Given the description of an element on the screen output the (x, y) to click on. 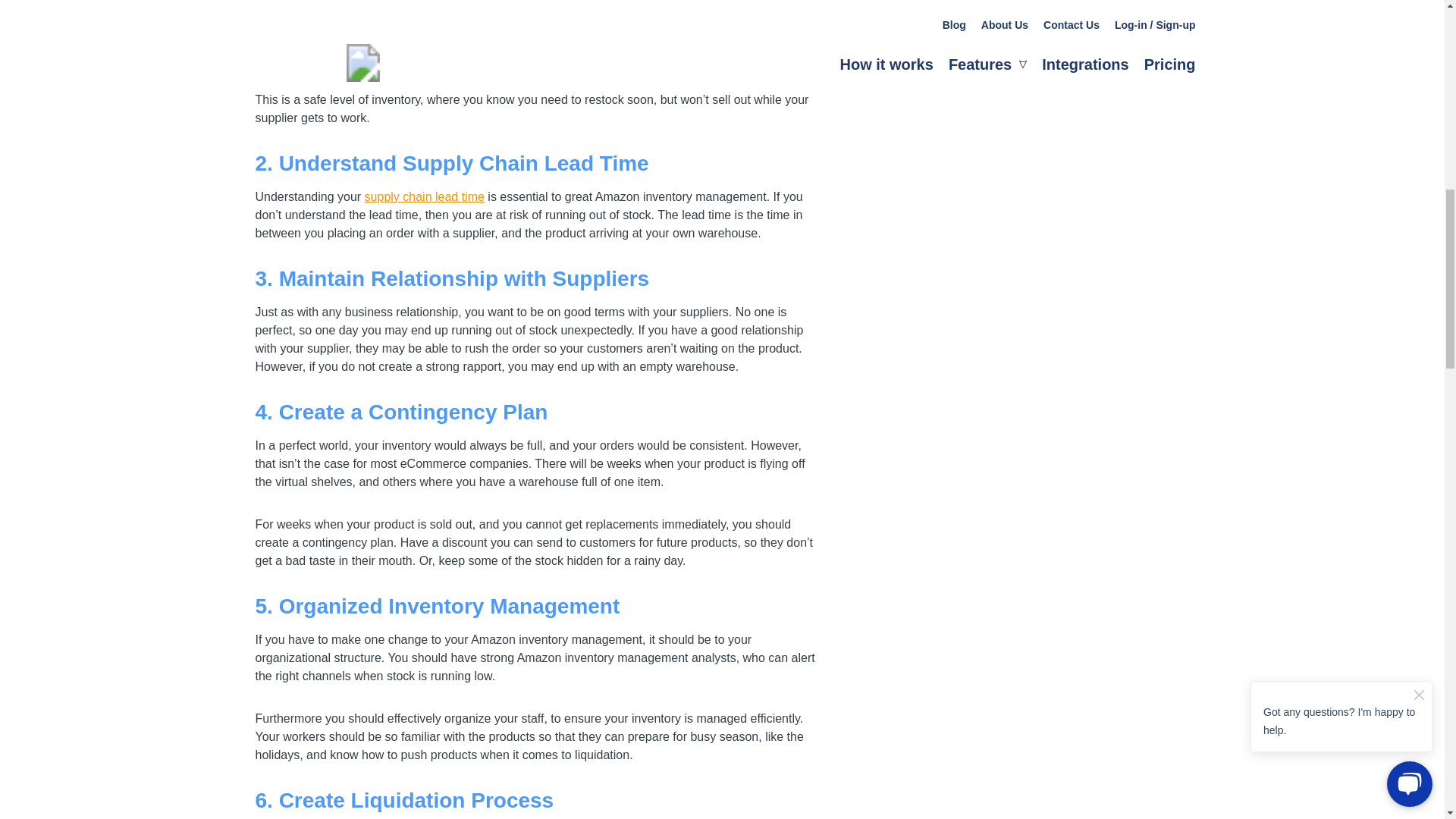
supply chain lead time (424, 196)
inventory minimums. (751, 81)
